Given the description of an element on the screen output the (x, y) to click on. 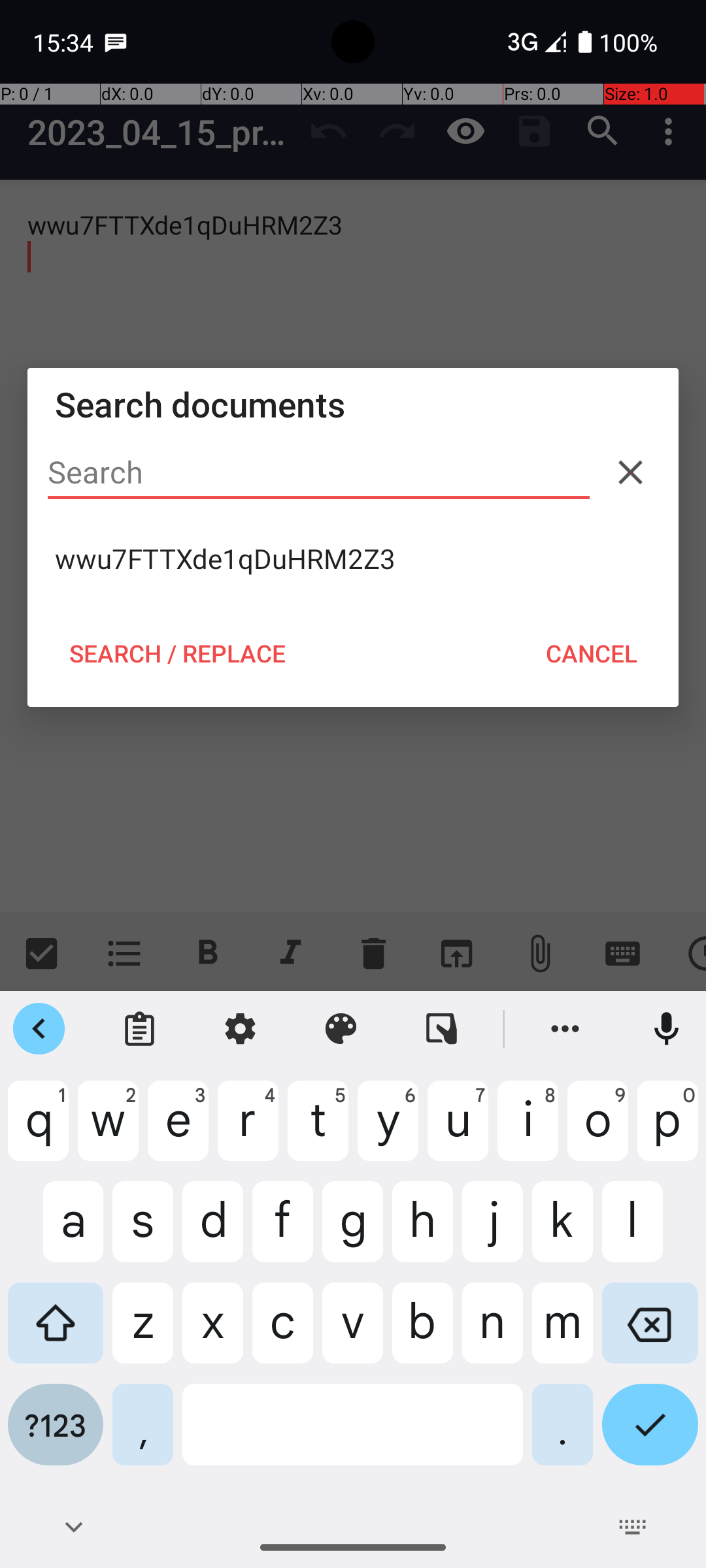
Search documents Element type: android.widget.TextView (352, 403)
wwu7FTTXde1qDuHRM2Z3 Element type: android.widget.TextView (352, 558)
SEARCH / REPLACE Element type: android.widget.Button (176, 652)
